Given the description of an element on the screen output the (x, y) to click on. 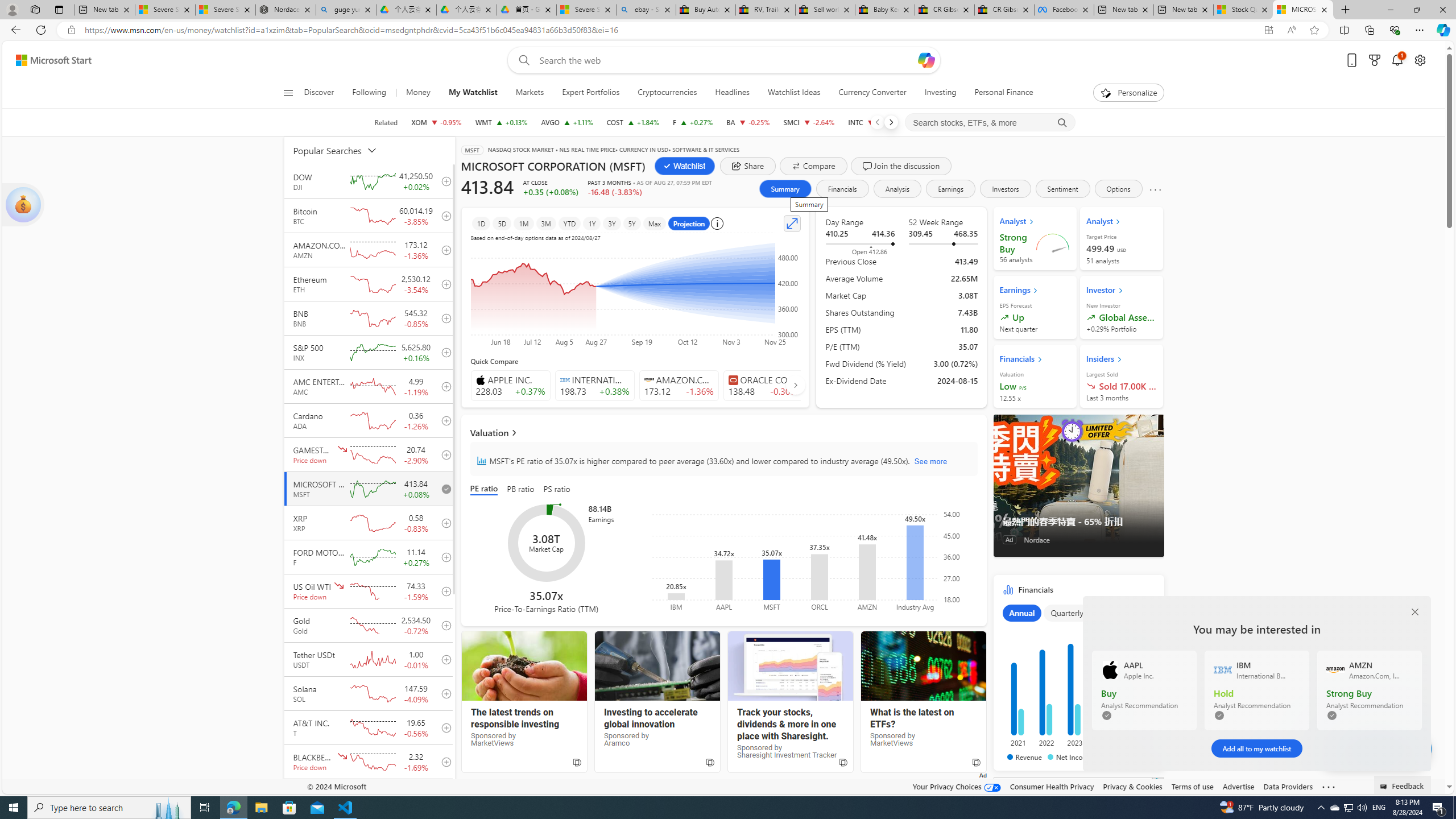
Financials (842, 188)
Investing (940, 92)
Class: chartSvg (1075, 680)
Close tab (1324, 9)
Discover (323, 92)
Feedback (1402, 784)
Discover (319, 92)
Baby Keepsakes & Announcements for sale | eBay (885, 9)
Minimize (1390, 9)
Add this page to favorites (Ctrl+D) (1314, 29)
